Given the description of an element on the screen output the (x, y) to click on. 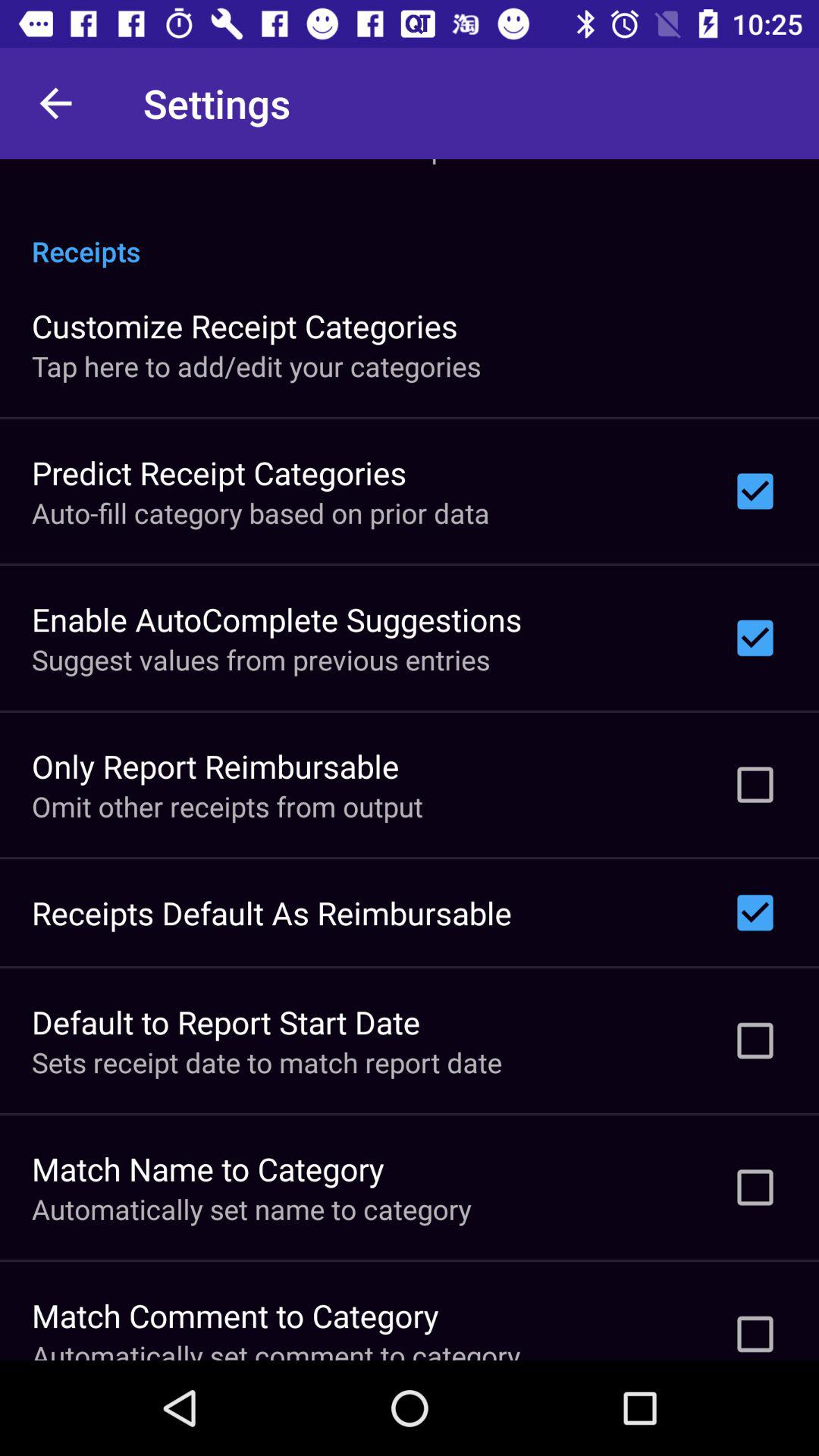
tap the item below enable autocomplete suggestions icon (260, 659)
